Given the description of an element on the screen output the (x, y) to click on. 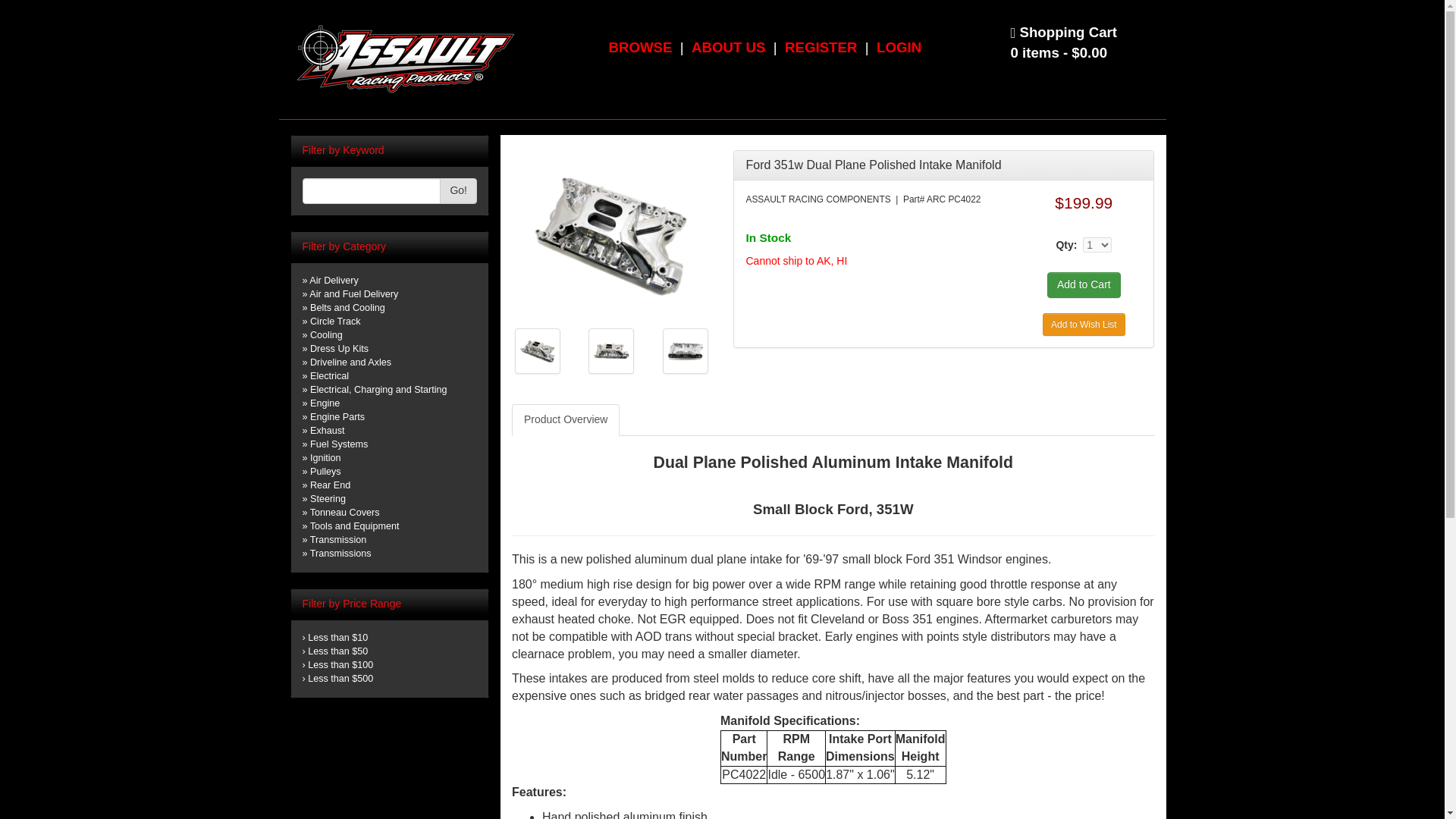
Cooling (326, 335)
Engine (324, 403)
Belts and Cooling (347, 307)
Air Delivery (333, 280)
Add to Wish List (1083, 323)
Tools and Equipment (354, 525)
Tonneau Covers (345, 511)
Add to Cart (1083, 284)
Product Overview (566, 419)
Transmissions (340, 552)
Dress Up Kits (339, 348)
Pulleys (325, 471)
Engine Parts (337, 416)
Rear End (330, 484)
Add to Cart (1083, 284)
